Given the description of an element on the screen output the (x, y) to click on. 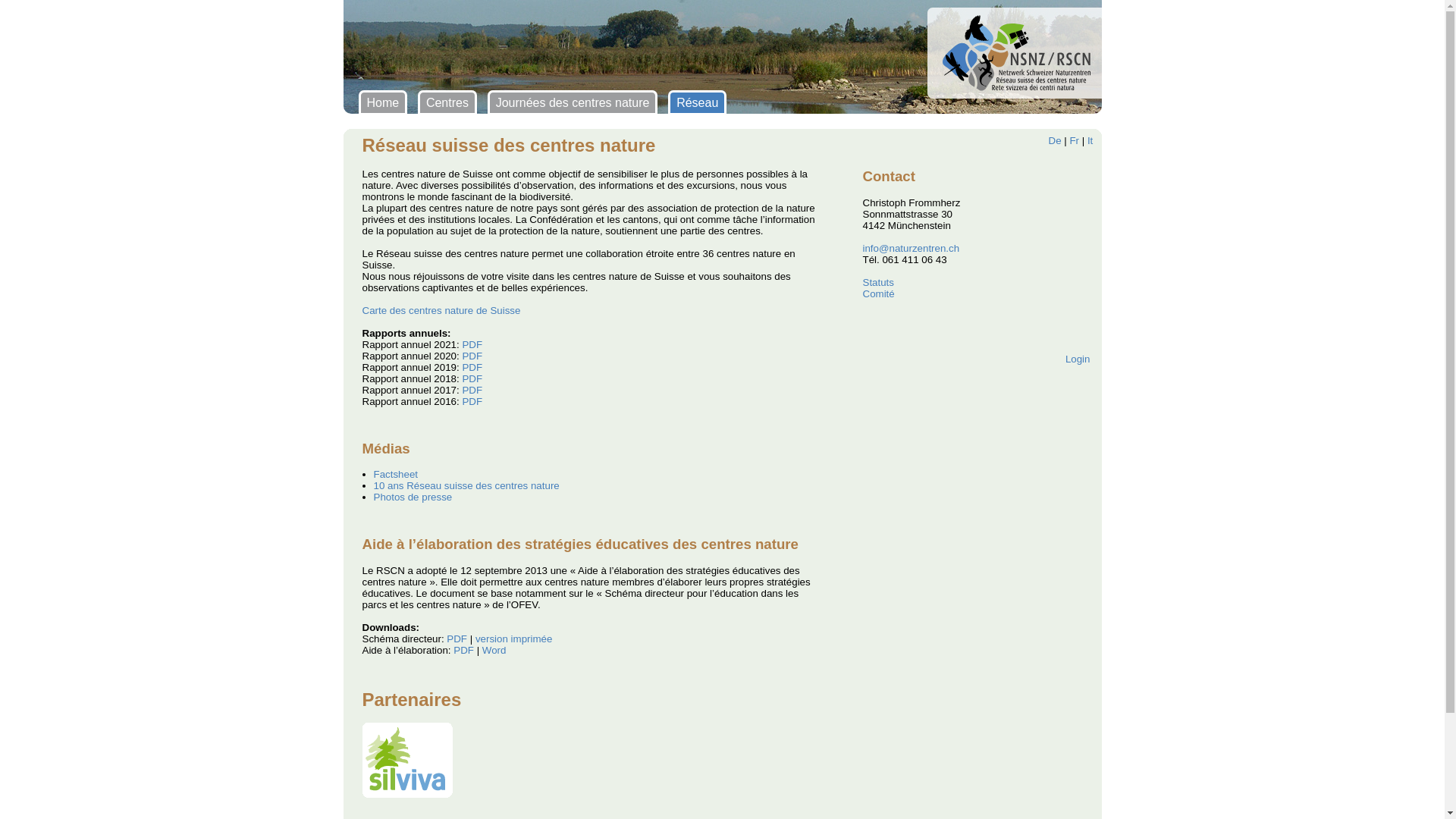
Centres Element type: text (446, 102)
info@naturzentren.ch Element type: text (911, 248)
Fr Element type: text (1074, 140)
Photos de presse Element type: text (412, 496)
De Element type: text (1054, 140)
PDF Element type: text (471, 378)
Login Element type: text (1077, 358)
Factsheet Element type: text (395, 474)
Word Element type: text (494, 649)
Home Element type: text (382, 102)
Carte des centres nature de Suisse Element type: text (441, 310)
It Element type: text (1089, 140)
PDF Element type: text (471, 389)
PDF Element type: text (471, 355)
PDF Element type: text (463, 649)
PDF Element type: text (471, 401)
PDF Element type: text (471, 367)
PDF Element type: text (471, 344)
PDF Element type: text (456, 638)
Statuts Element type: text (878, 282)
